Given the description of an element on the screen output the (x, y) to click on. 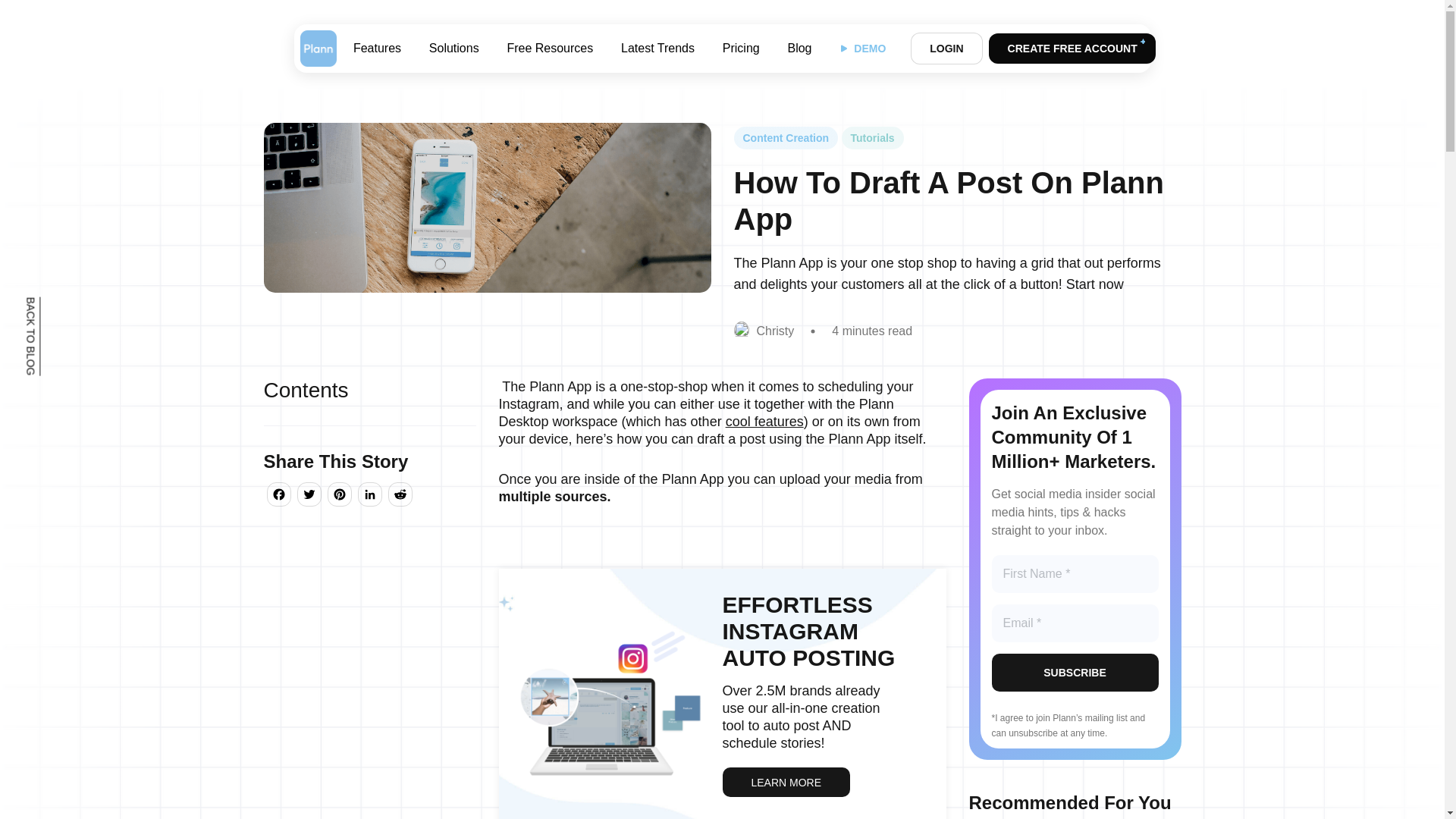
Facebook (278, 496)
Twitter (309, 496)
Subscribe (1074, 672)
LinkedIn (370, 496)
Go Home (317, 48)
Pinterest (339, 496)
Reddit (399, 496)
